Given the description of an element on the screen output the (x, y) to click on. 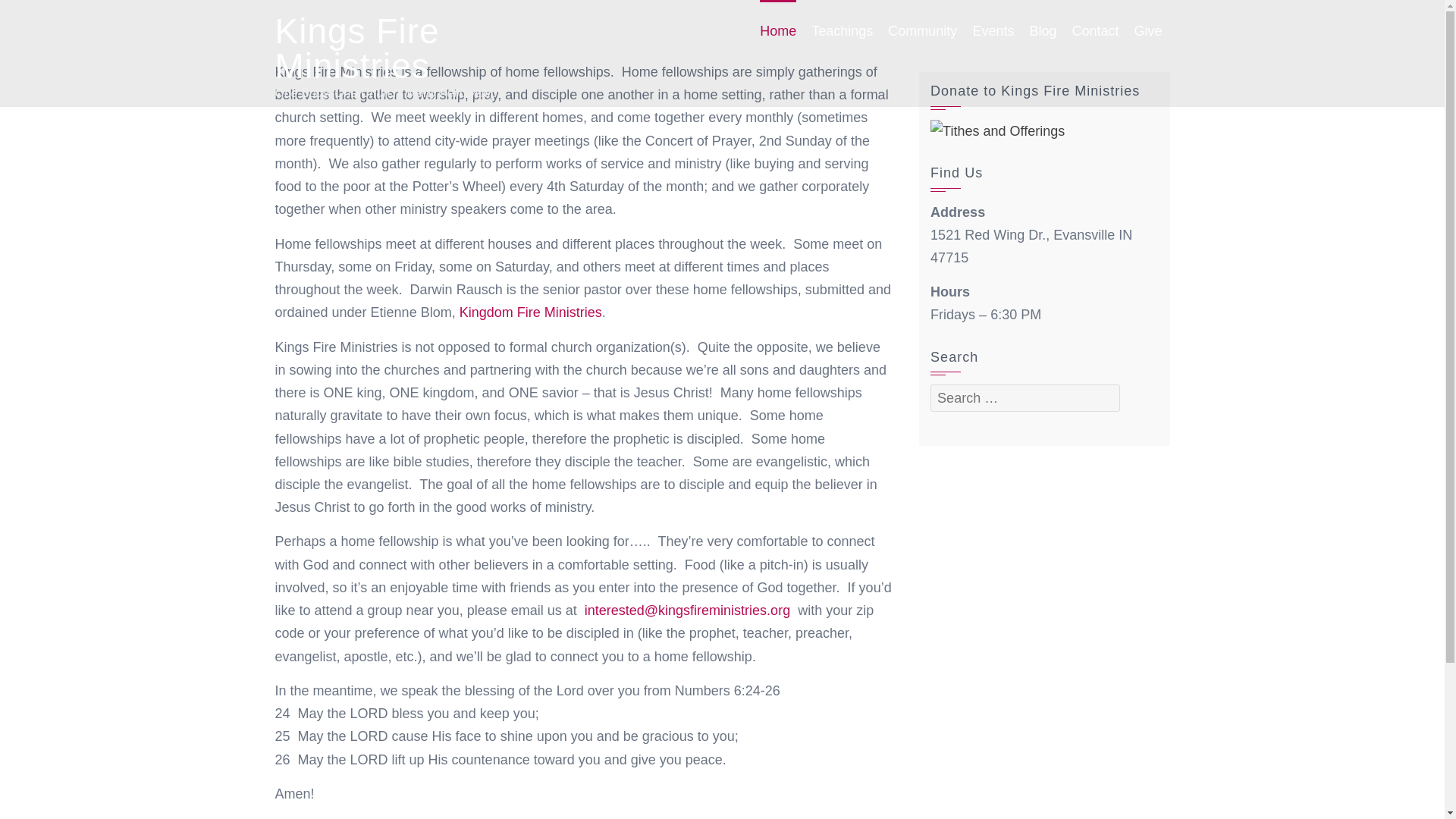
Community (922, 31)
Search (37, 13)
Teachings (841, 31)
Kings Fire Ministries (357, 48)
Kingdom Fire Ministries (531, 312)
Search (818, 316)
